Given the description of an element on the screen output the (x, y) to click on. 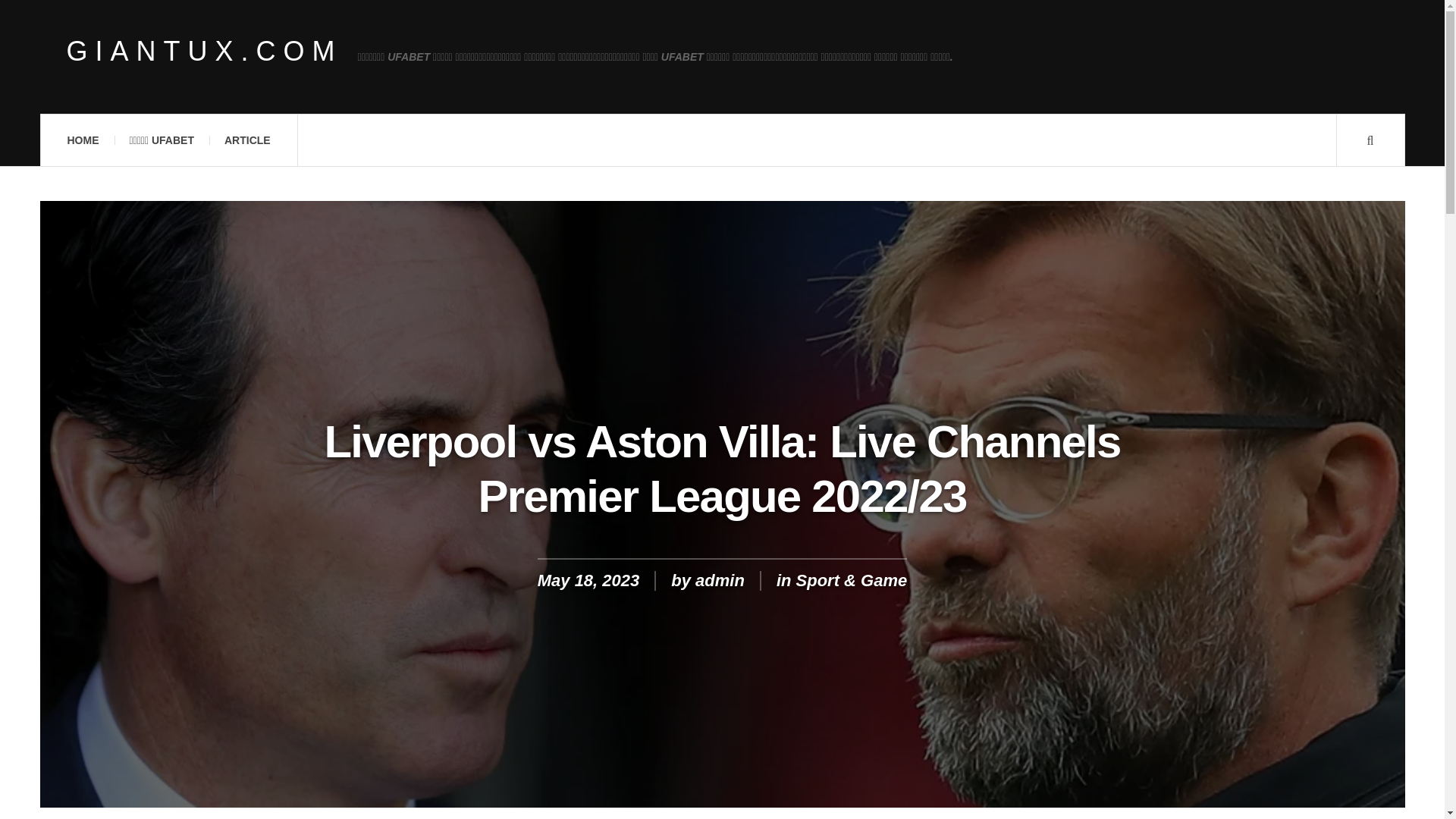
GIANTUX.COM (204, 51)
giantux.com (204, 51)
admin (719, 579)
ARTICLE (247, 140)
HOME (81, 140)
